Given the description of an element on the screen output the (x, y) to click on. 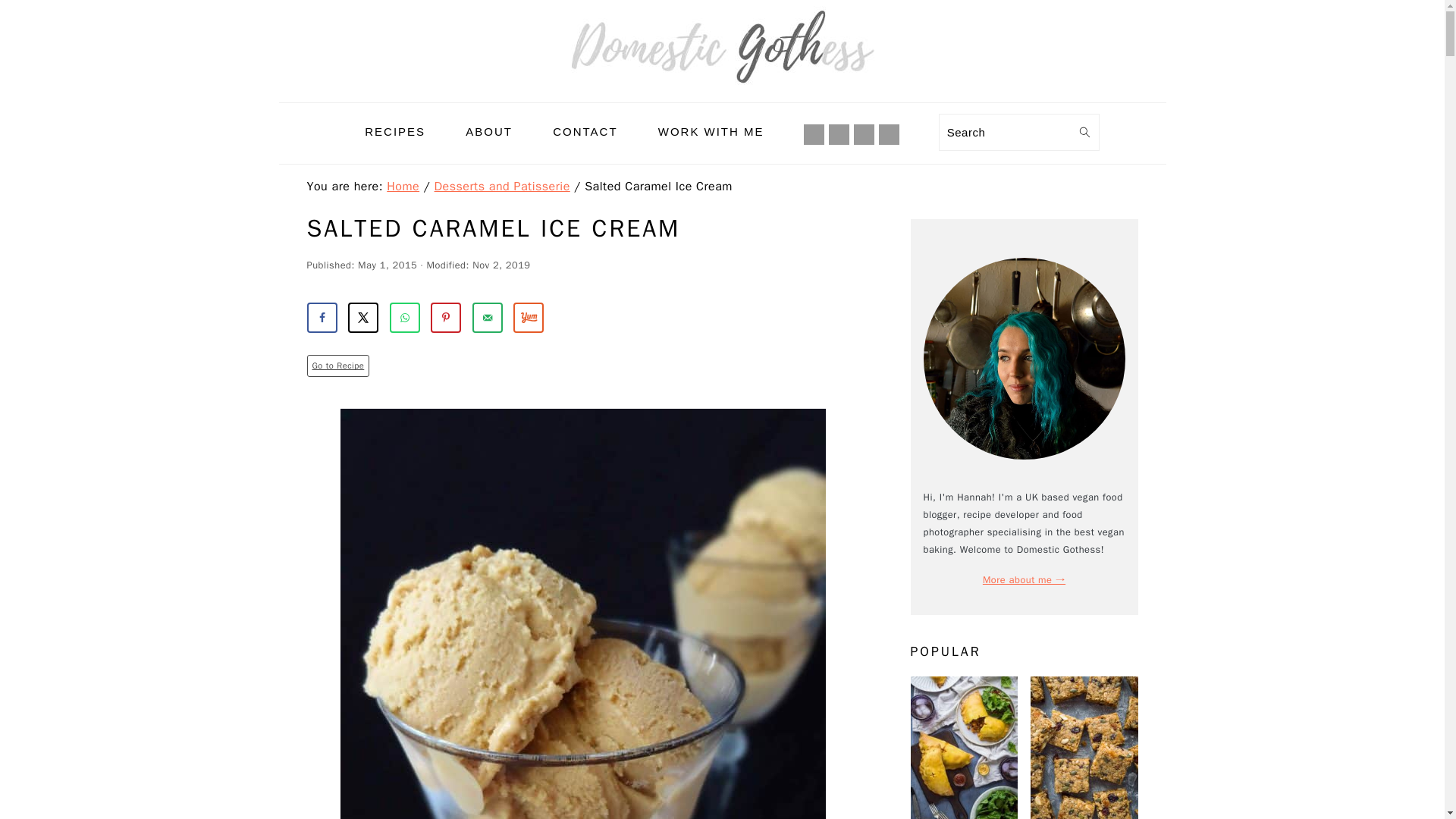
Twitter (888, 134)
Share on Yummly (528, 317)
Share on WhatsApp (405, 317)
Facebook (813, 134)
Domestic Gothess (721, 90)
Share on Facebook (320, 317)
Facebook (814, 134)
Desserts and Patisserie (501, 186)
Send over email (486, 317)
Go to Recipe (337, 364)
WORK WITH ME (711, 131)
Pinterest (863, 134)
Instagram (839, 134)
